Given the description of an element on the screen output the (x, y) to click on. 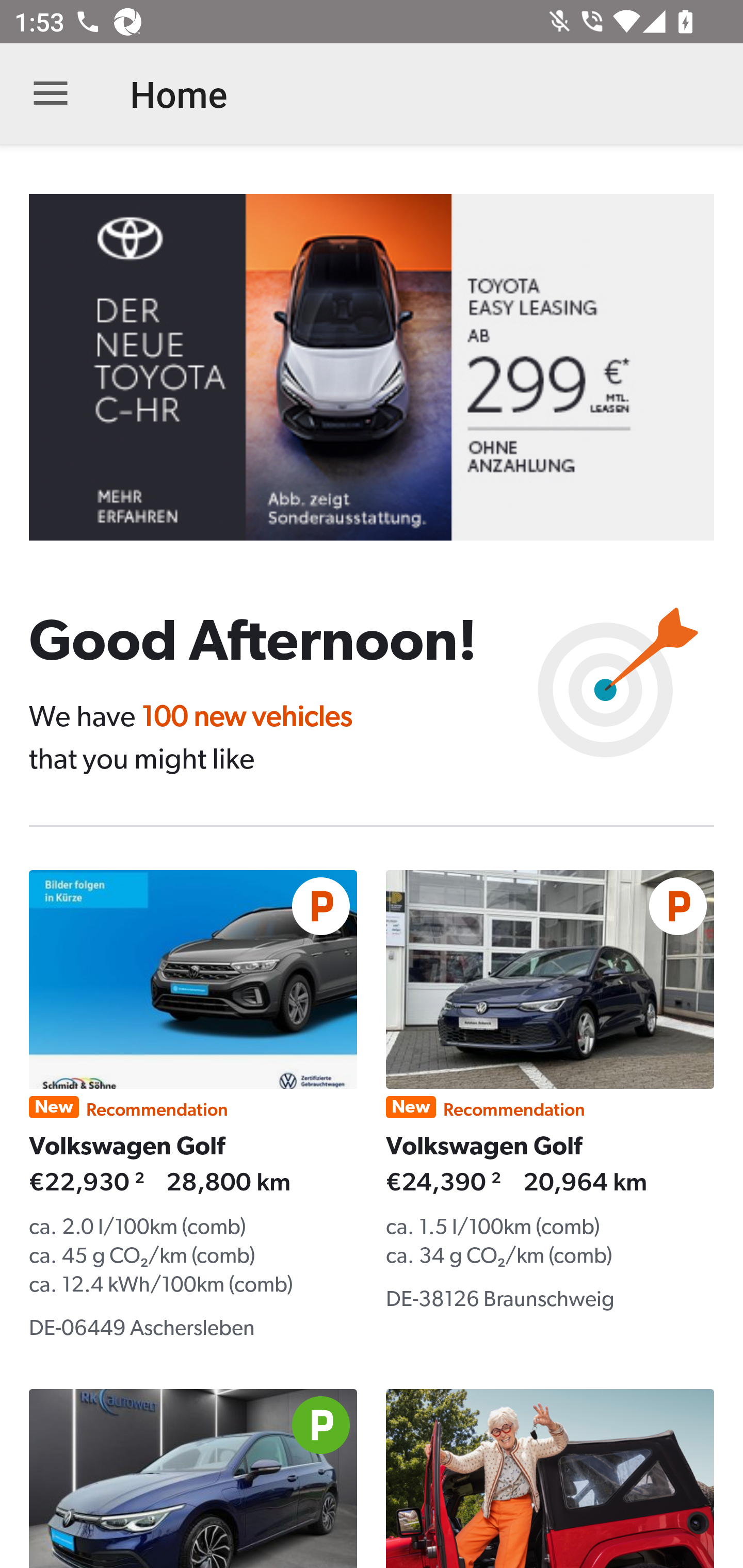
Open navigation bar (50, 93)
B31340770 (385, 367)
